Given the description of an element on the screen output the (x, y) to click on. 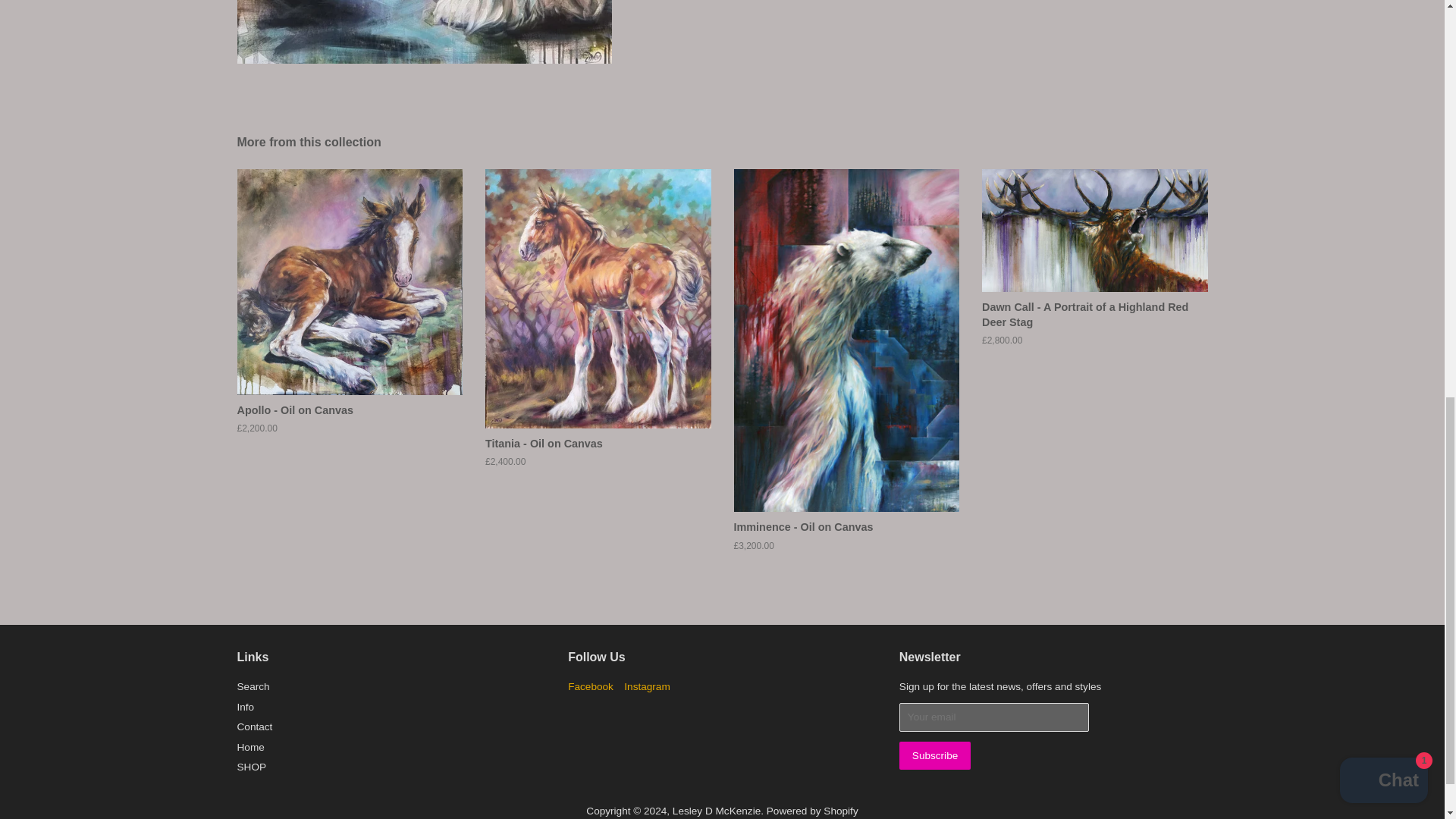
Subscribe (935, 755)
Lesley D McKenzie on Instagram (646, 686)
Lesley D McKenzie on Facebook (589, 686)
